Given the description of an element on the screen output the (x, y) to click on. 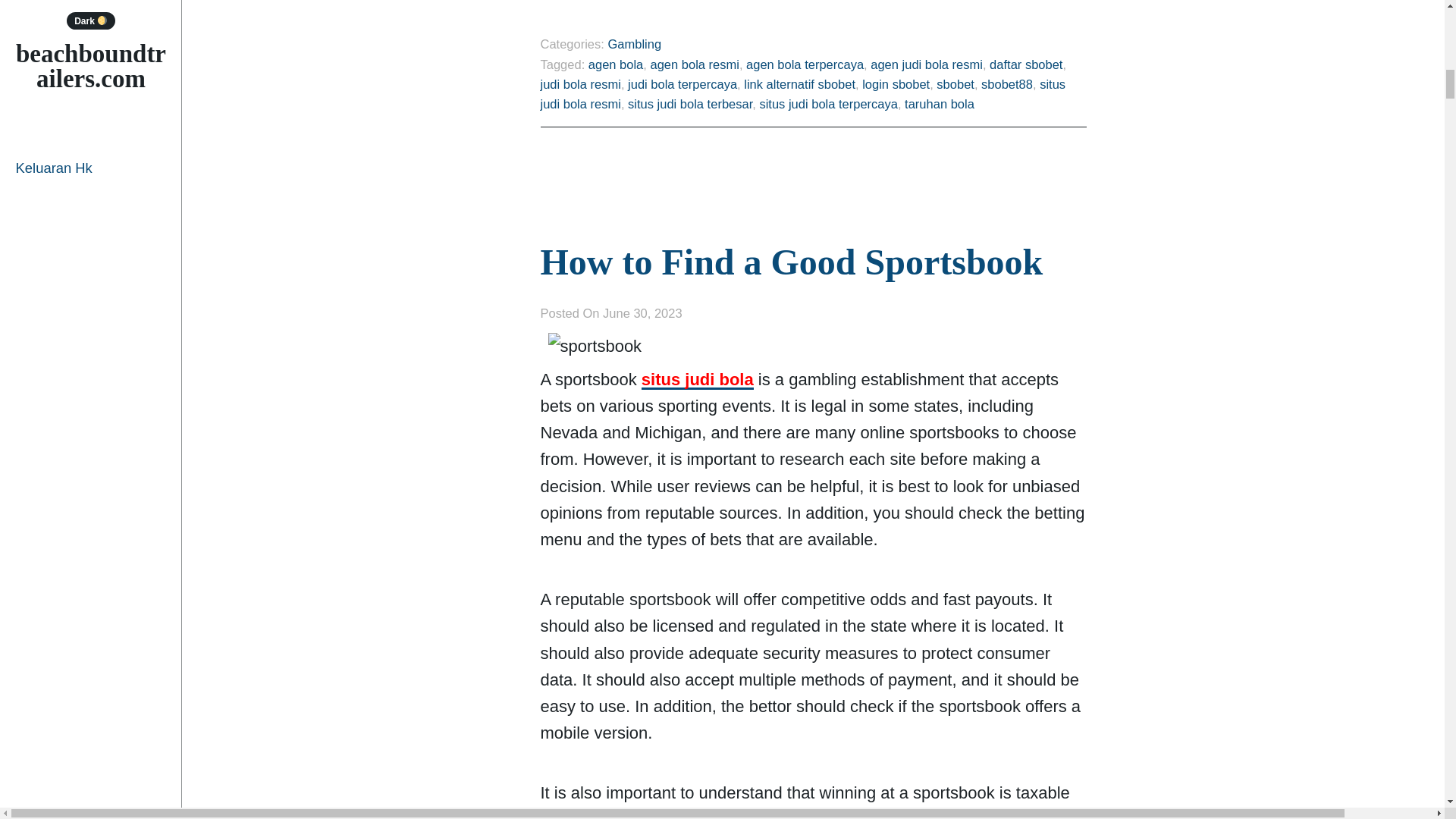
daftar sbobet (1026, 64)
How to Find a Good Sportsbook (791, 261)
sbobet (955, 83)
situs judi bola terpercaya (828, 103)
Gambling (634, 43)
judi bola terpercaya (681, 83)
situs judi bola (698, 379)
judi bola resmi (580, 83)
sbobet88 (1006, 83)
login sbobet (895, 83)
link alternatif sbobet (800, 83)
agen bola resmi (693, 64)
situs judi bola terbesar (689, 103)
taruhan bola (939, 103)
situs judi bola resmi (802, 93)
